Given the description of an element on the screen output the (x, y) to click on. 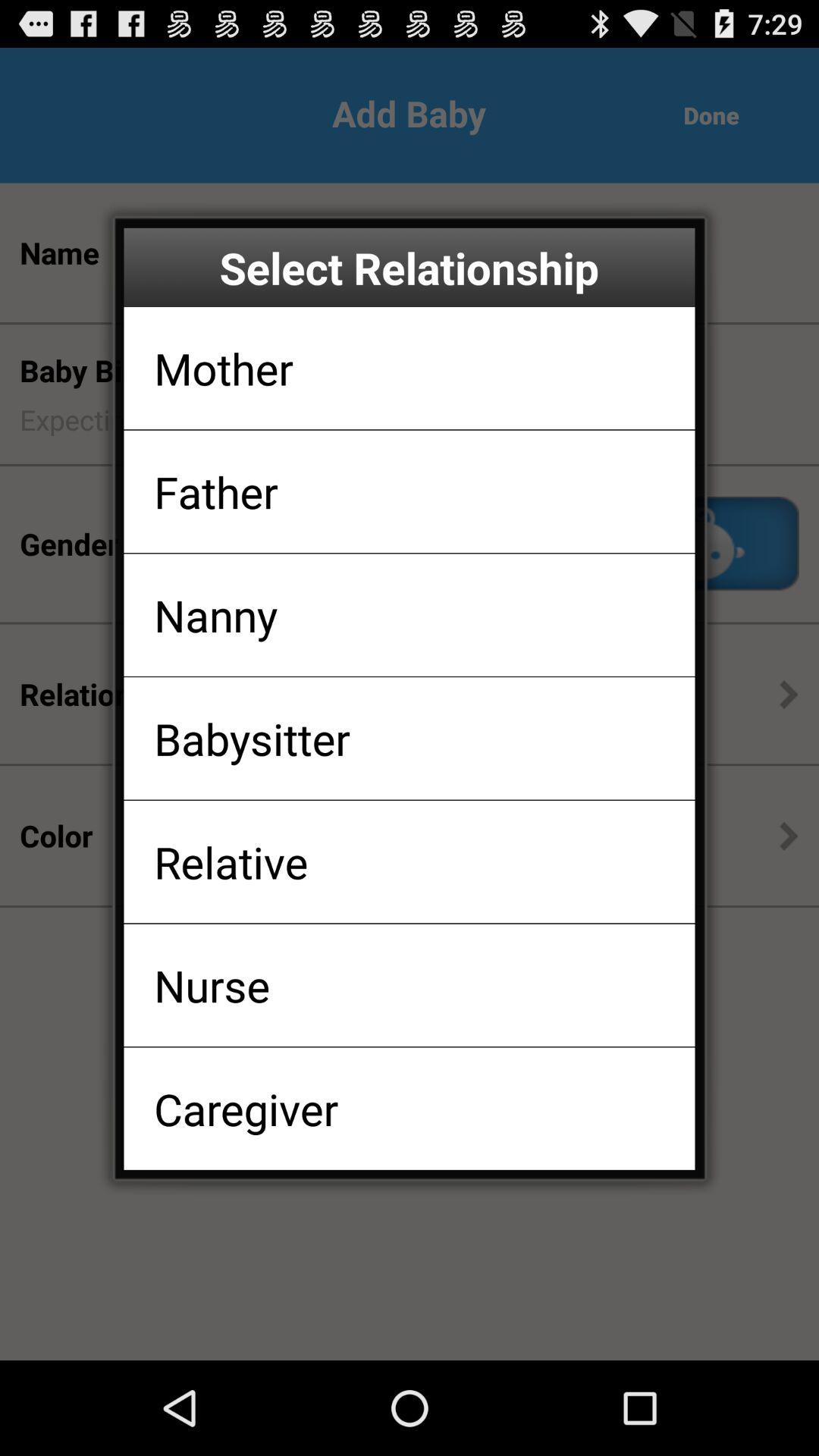
press caregiver (246, 1108)
